Given the description of an element on the screen output the (x, y) to click on. 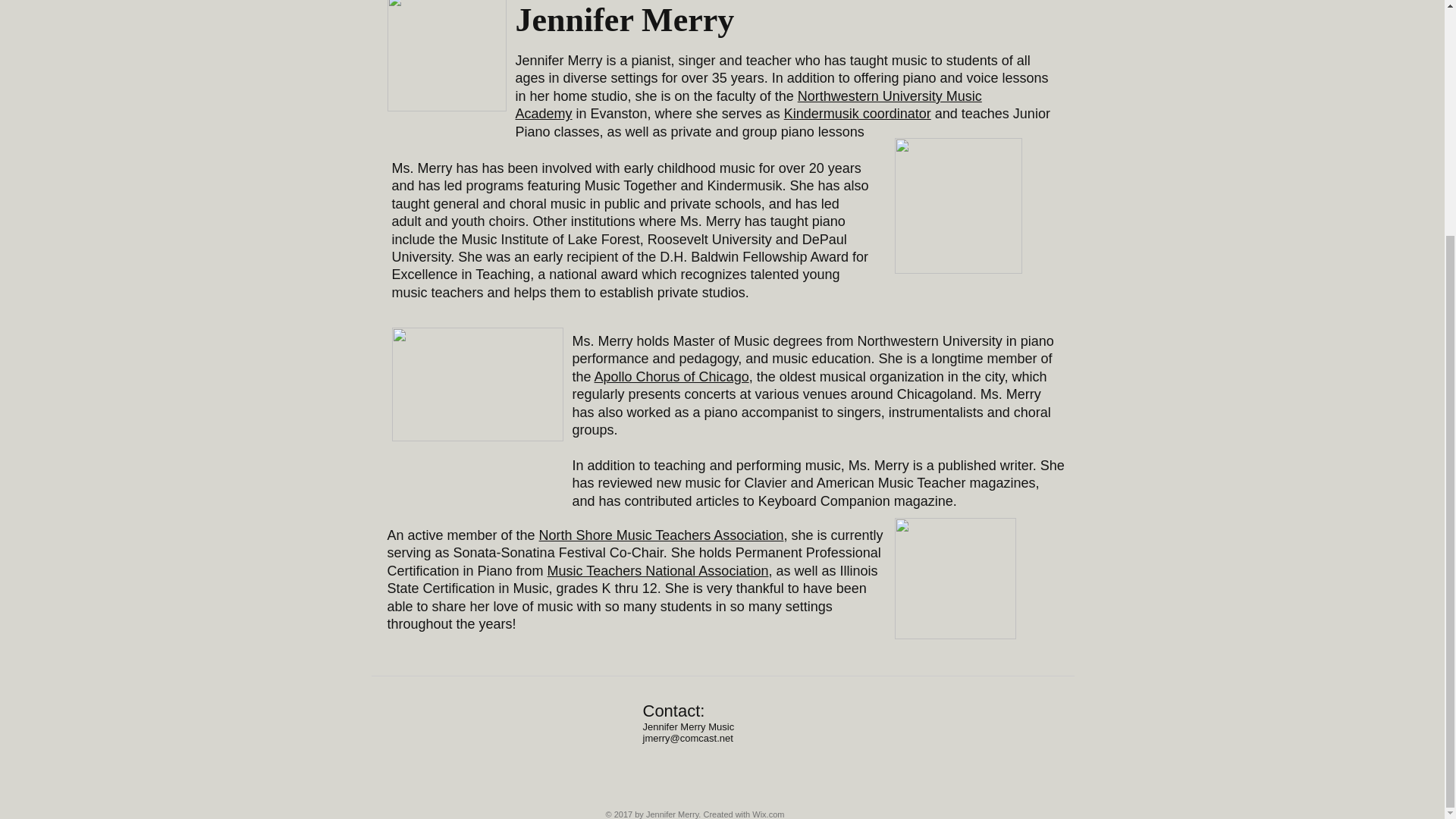
Kindermusik coordinator (857, 113)
Music Teachers National Association (657, 570)
Northwestern University Music Academy (748, 104)
Apollo Chorus of Chicago (671, 376)
North Shore Music Teachers Association (661, 534)
